Given the description of an element on the screen output the (x, y) to click on. 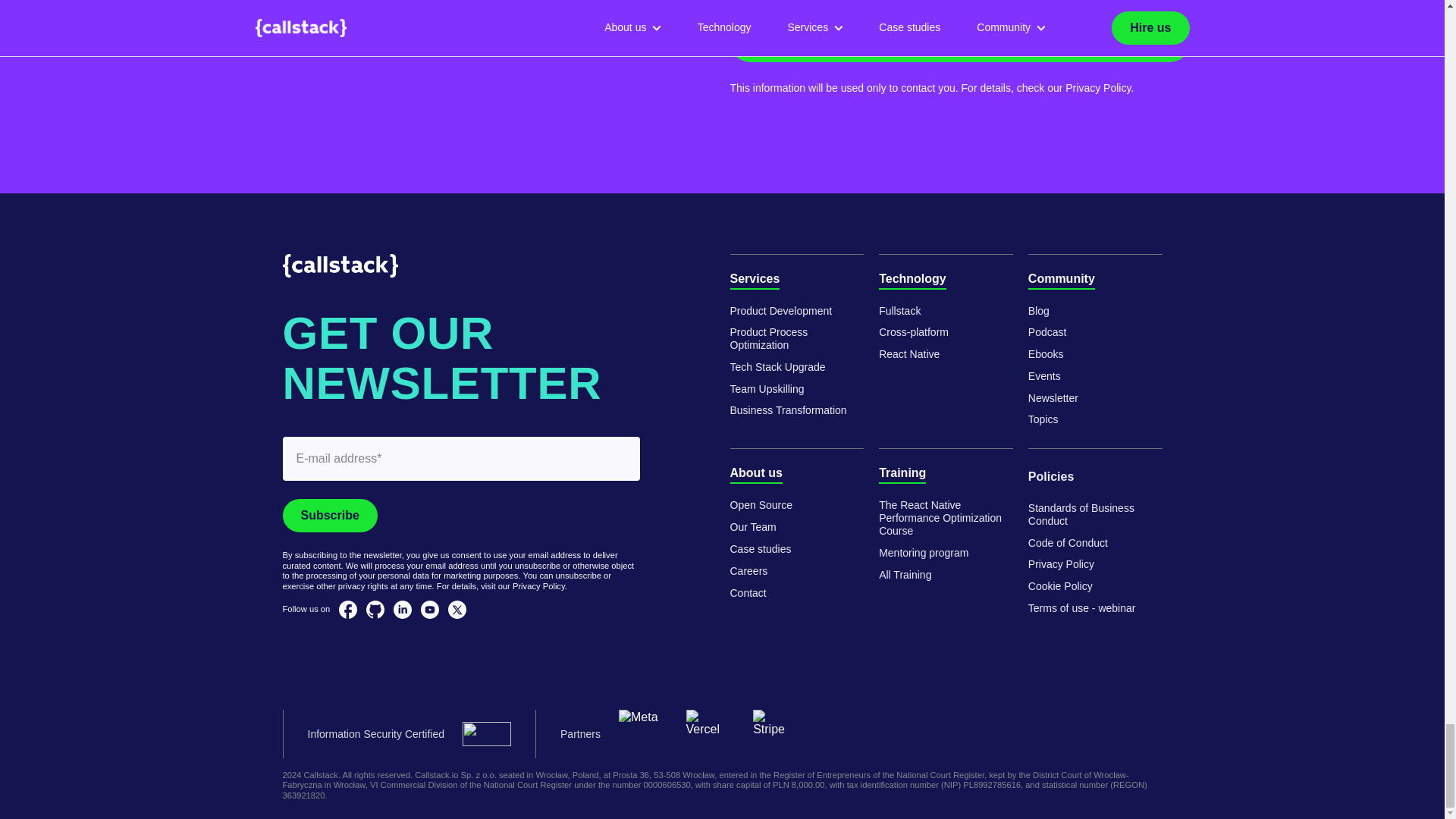
Events (1044, 376)
Ebooks (1045, 354)
React native for Desktop (914, 332)
Contact (747, 593)
Product Development (780, 310)
Podcast (1047, 332)
Careers (748, 571)
Open Source (760, 504)
Super Apps training (946, 517)
Business Transformation (787, 410)
Case studies (759, 549)
Ebooks (1052, 398)
Topics (1042, 419)
Blog (1038, 310)
React native for Desktop (909, 354)
